Given the description of an element on the screen output the (x, y) to click on. 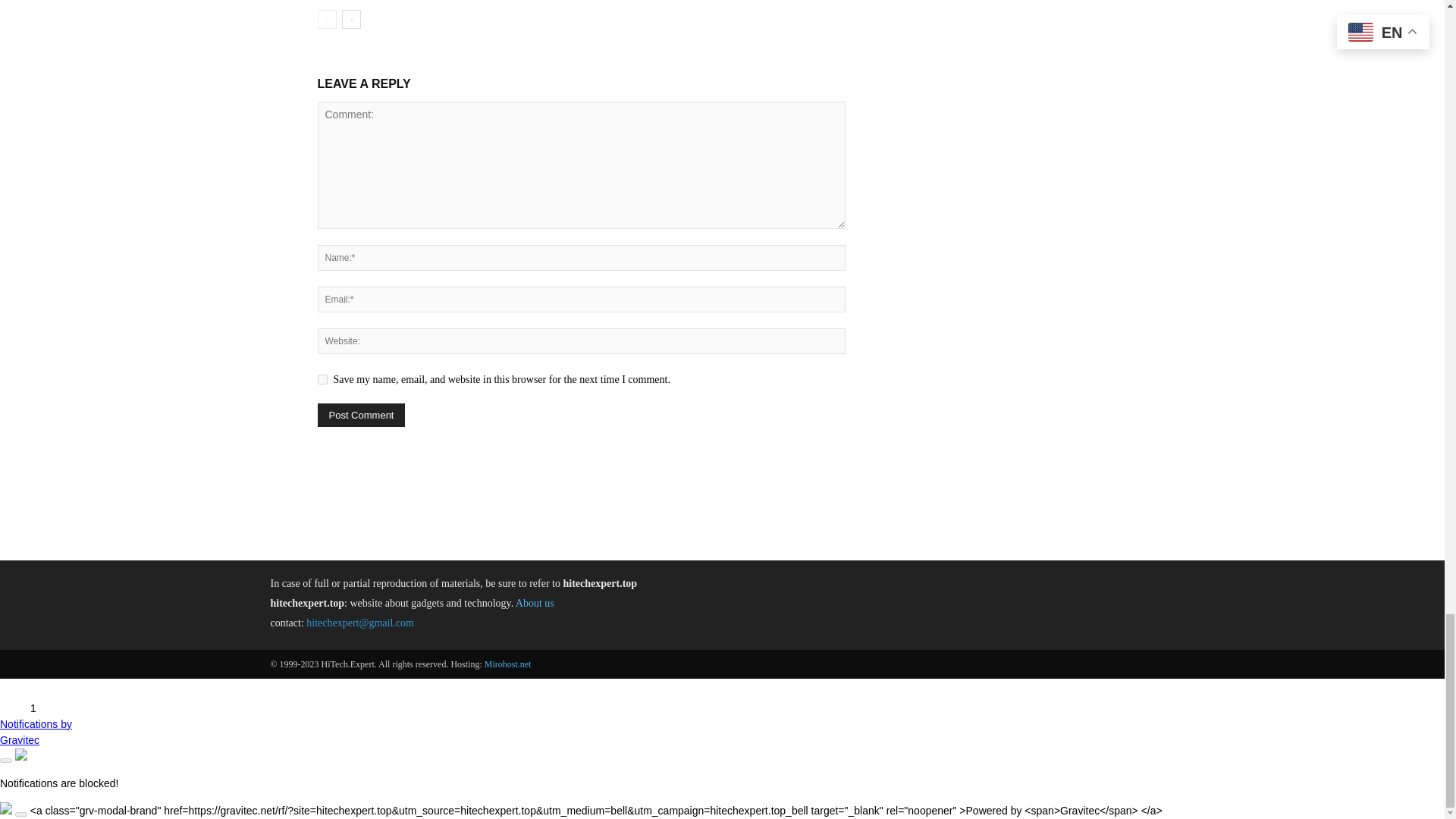
yes (321, 379)
Post Comment (360, 414)
